Given the description of an element on the screen output the (x, y) to click on. 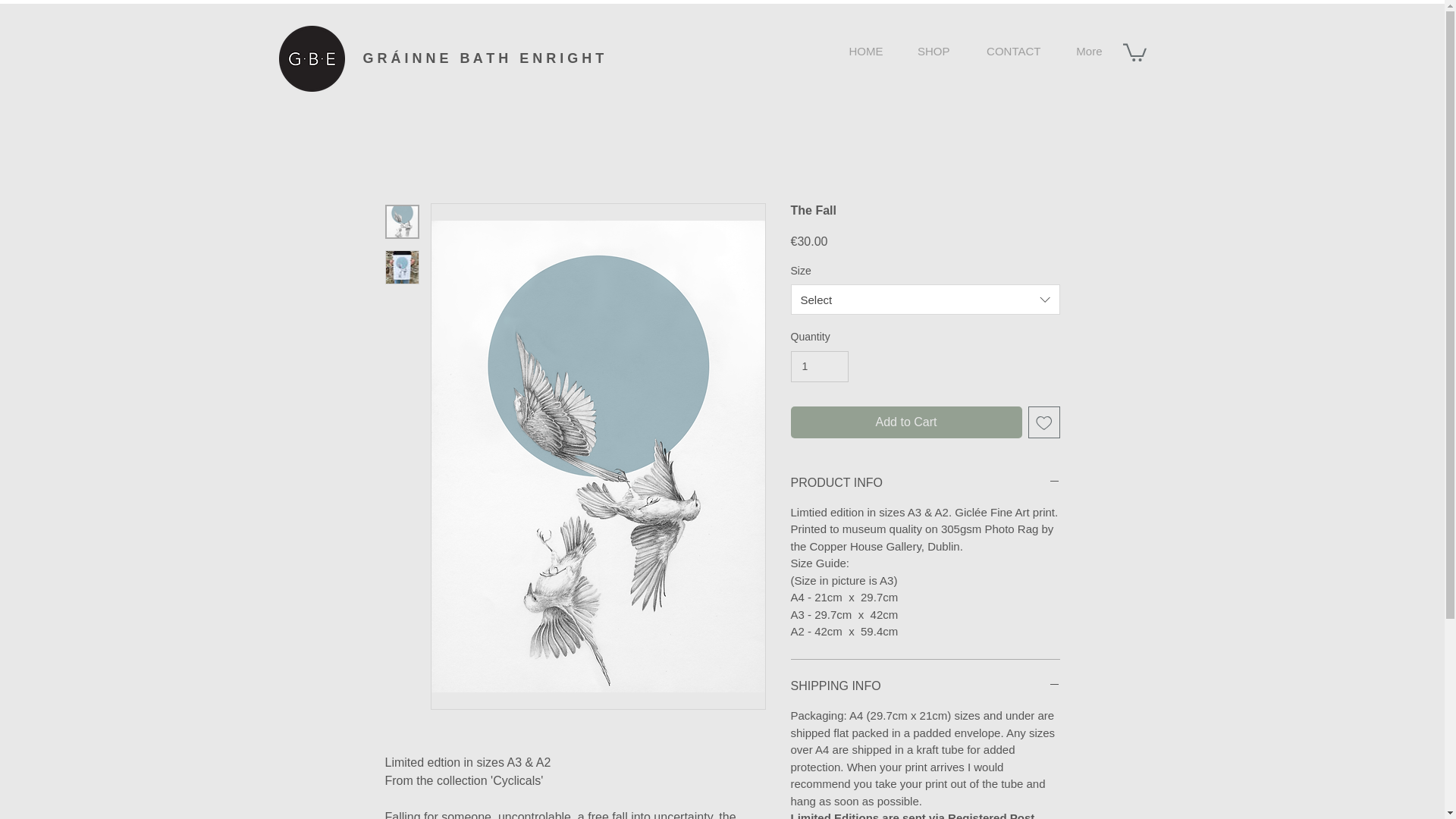
SHIPPING INFO (924, 686)
HOME (858, 51)
Add to Cart (906, 422)
SHOP (927, 51)
PRODUCT INFO (924, 483)
Select (924, 299)
1 (818, 366)
CONTACT (1006, 51)
